Given the description of an element on the screen output the (x, y) to click on. 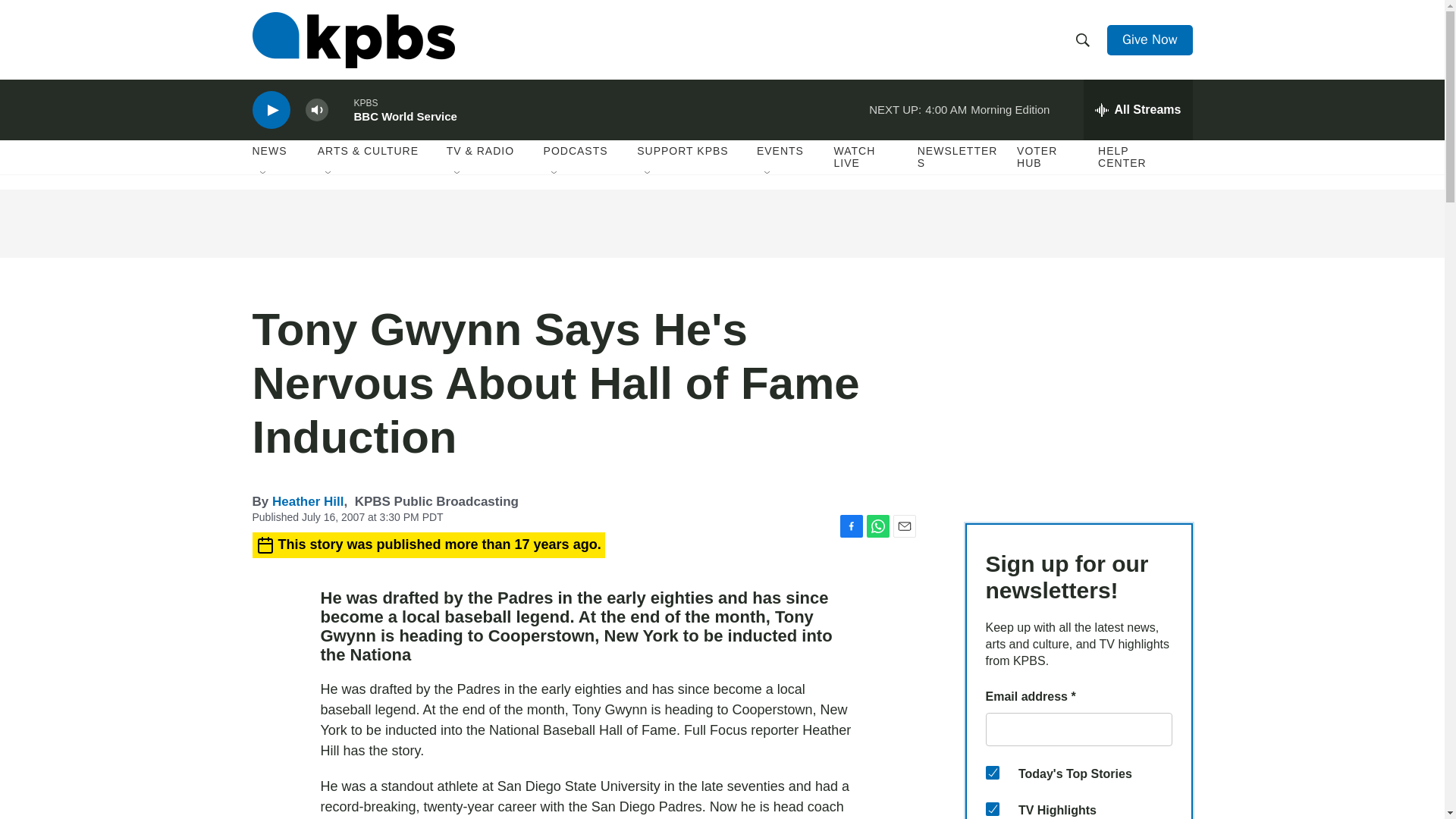
4 (991, 772)
3rd party ad content (1077, 398)
5 (991, 808)
3rd party ad content (721, 223)
